Given the description of an element on the screen output the (x, y) to click on. 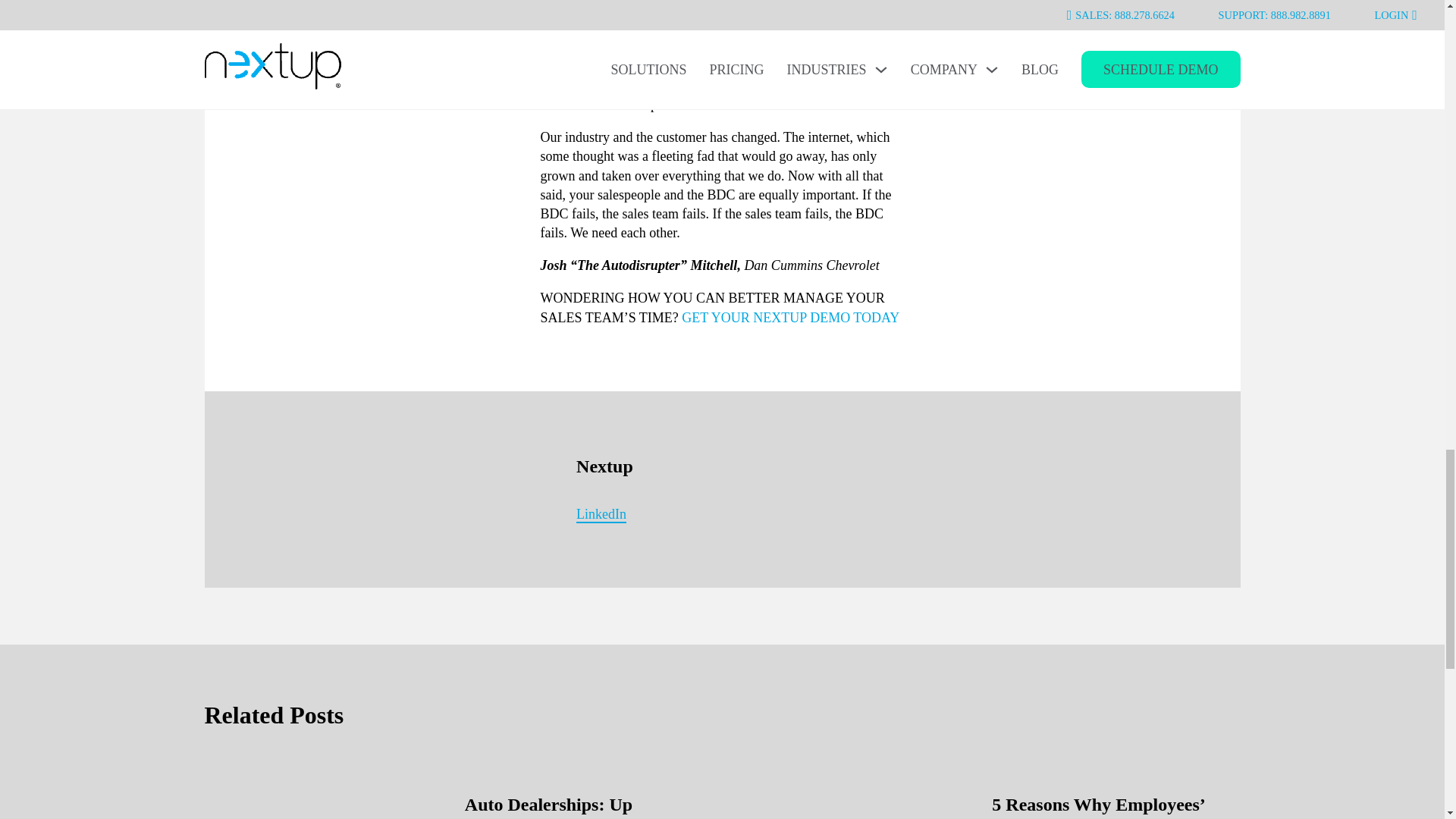
LinkedIn (601, 515)
GET YOUR NEXTUP DEMO TODAY (790, 317)
